Given the description of an element on the screen output the (x, y) to click on. 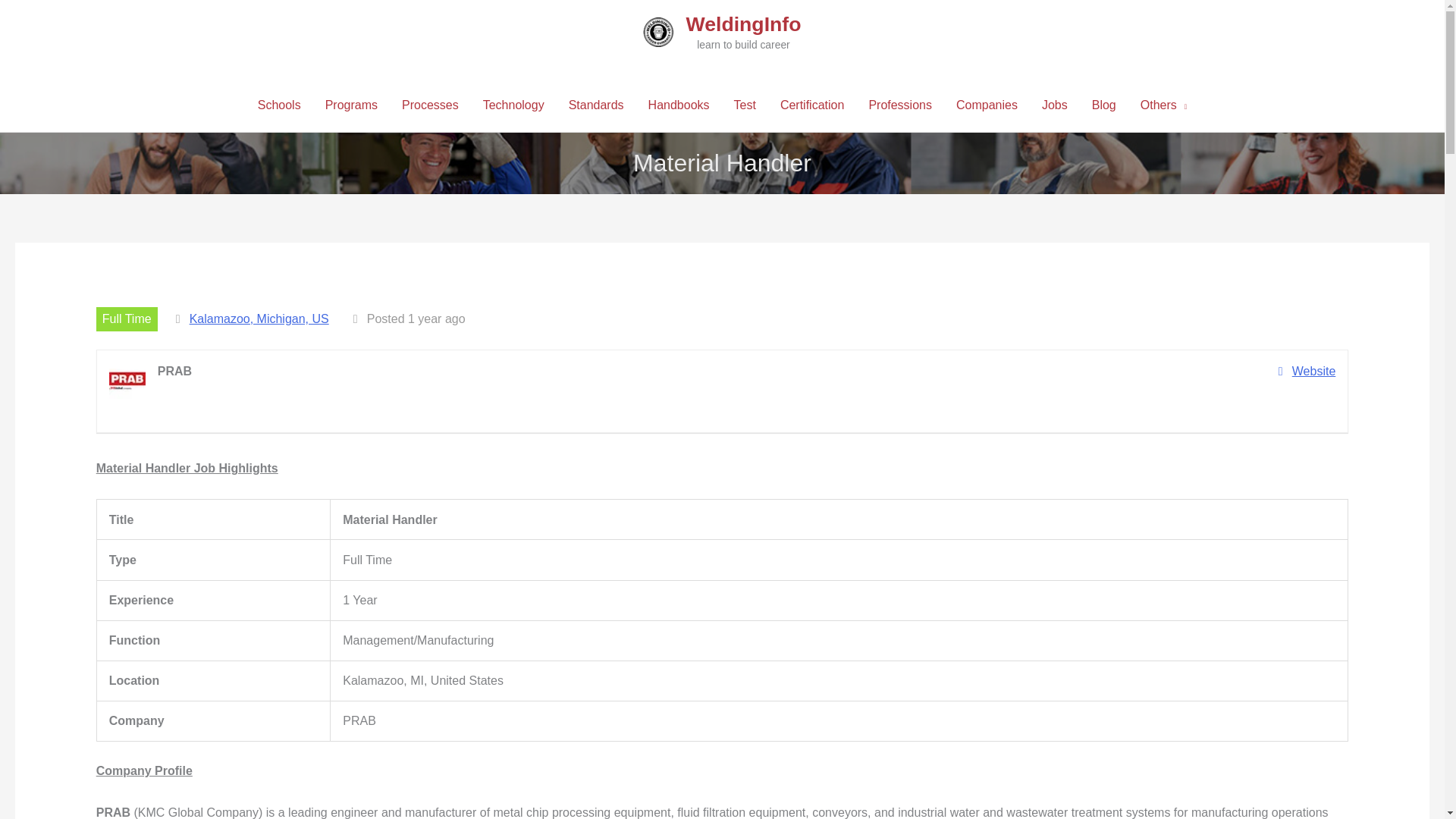
Standards (596, 105)
Test (745, 105)
Schools (279, 105)
Technology (513, 105)
Programs (351, 105)
Handbooks (679, 105)
Others (1163, 105)
Jobs (1054, 105)
Website (1307, 371)
Companies (986, 105)
Professions (899, 105)
WeldingInfo (742, 24)
Blog (1104, 105)
Processes (430, 105)
Certification (812, 105)
